Given the description of an element on the screen output the (x, y) to click on. 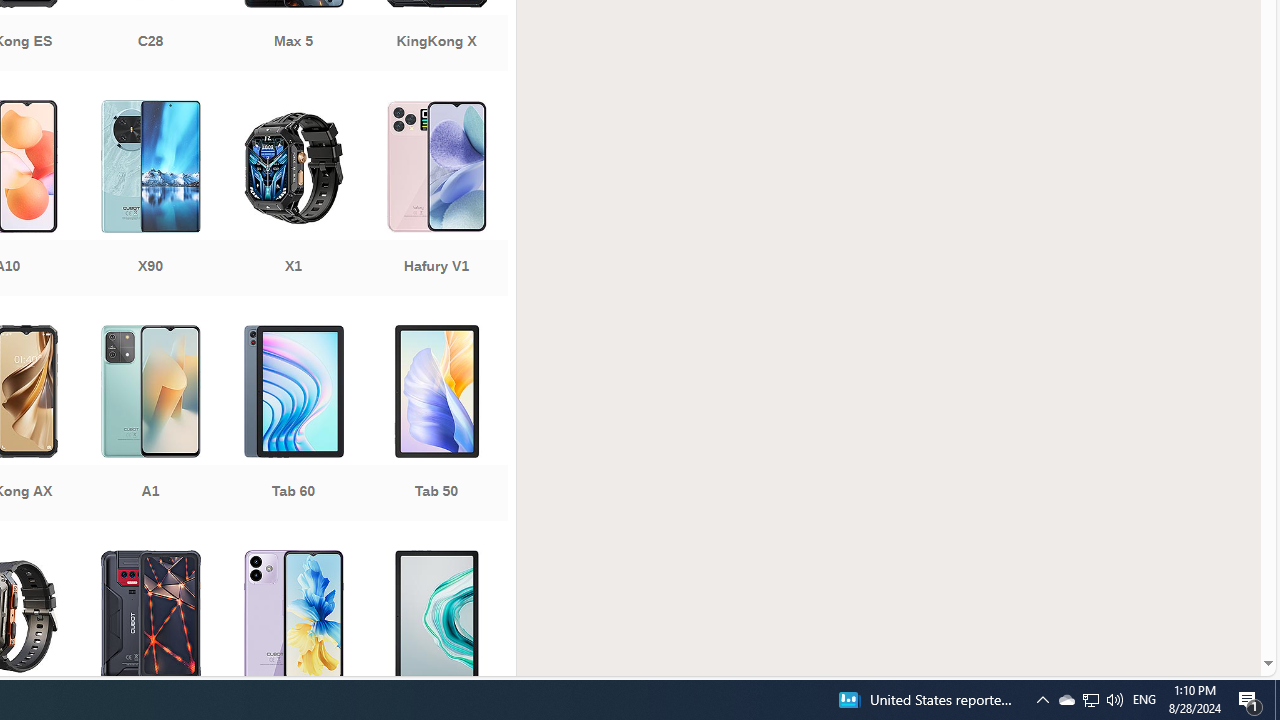
Tab 60 (292, 425)
Tab 50 (436, 425)
